Given the description of an element on the screen output the (x, y) to click on. 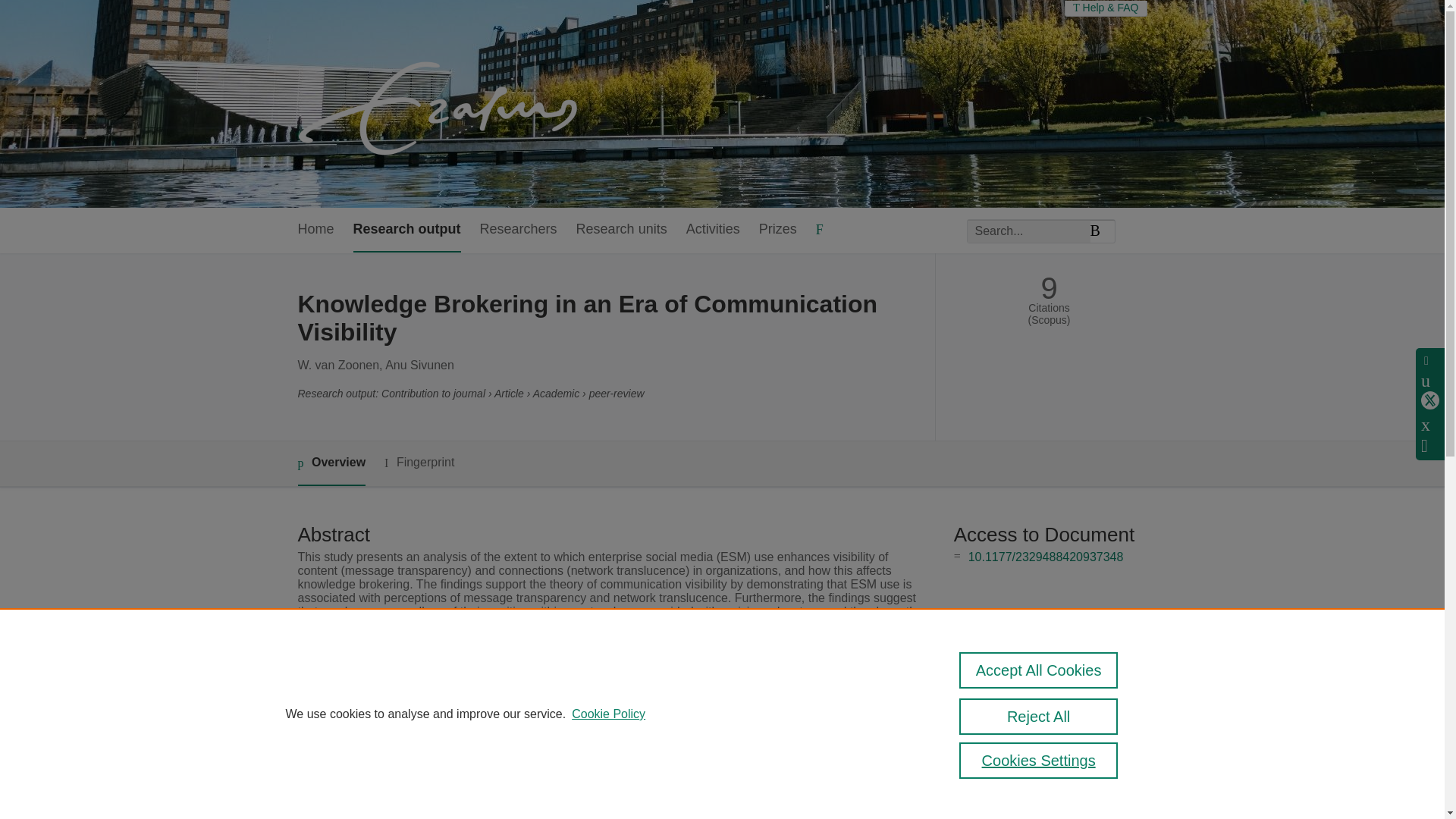
Activities (712, 230)
Prizes (777, 230)
Erasmus University Rotterdam Home (441, 103)
Research output (407, 230)
International Journal of Business Communication (637, 735)
Research units (621, 230)
Overview (331, 463)
Home (315, 230)
Researchers (518, 230)
Fingerprint (419, 462)
